Given the description of an element on the screen output the (x, y) to click on. 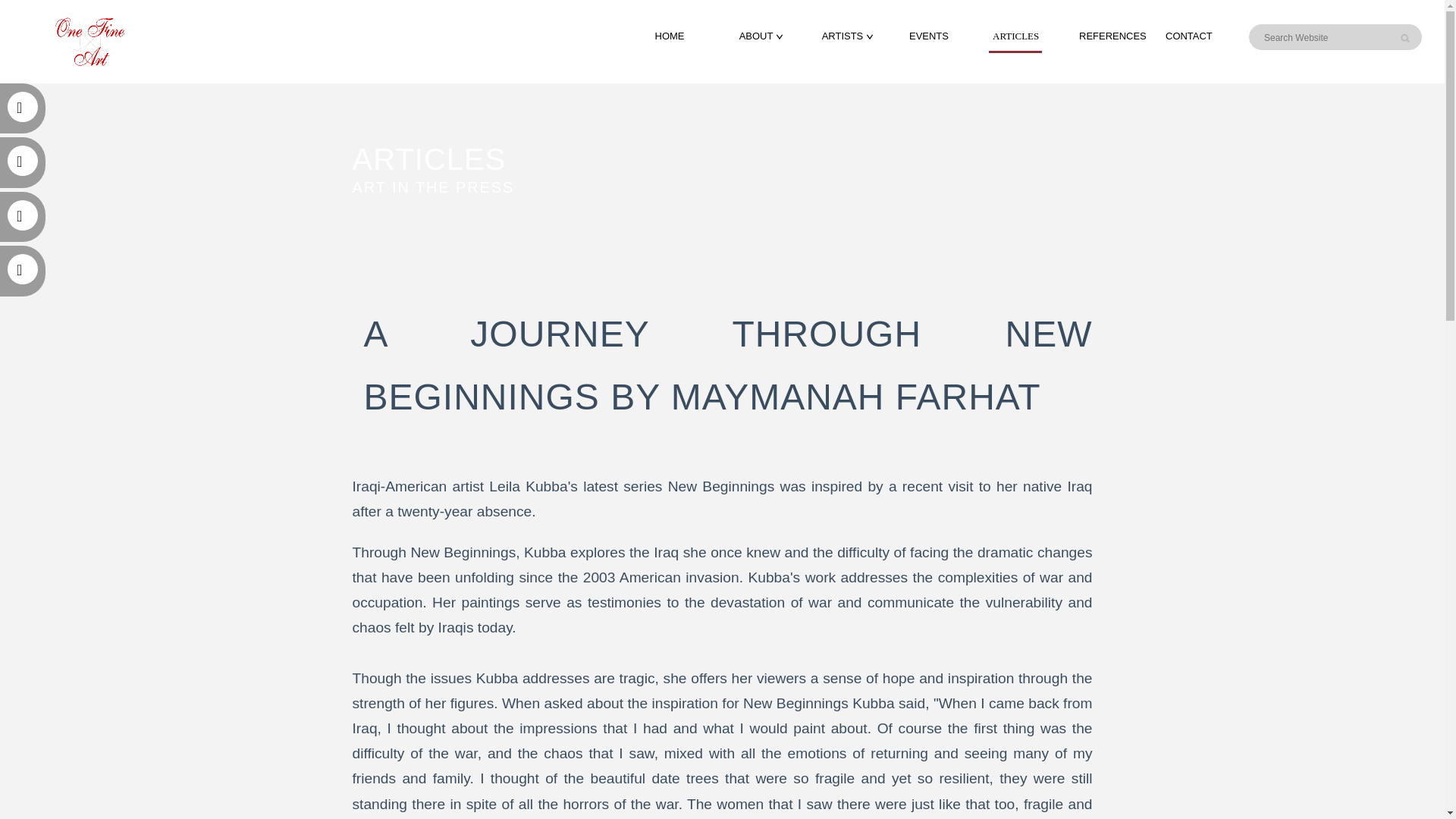
ARTICLES (1015, 35)
CONTACT (1189, 35)
REFERENCES (1112, 35)
HOME (669, 35)
ARTISTS (842, 35)
ABOUT (756, 35)
EVENTS (928, 35)
